Given the description of an element on the screen output the (x, y) to click on. 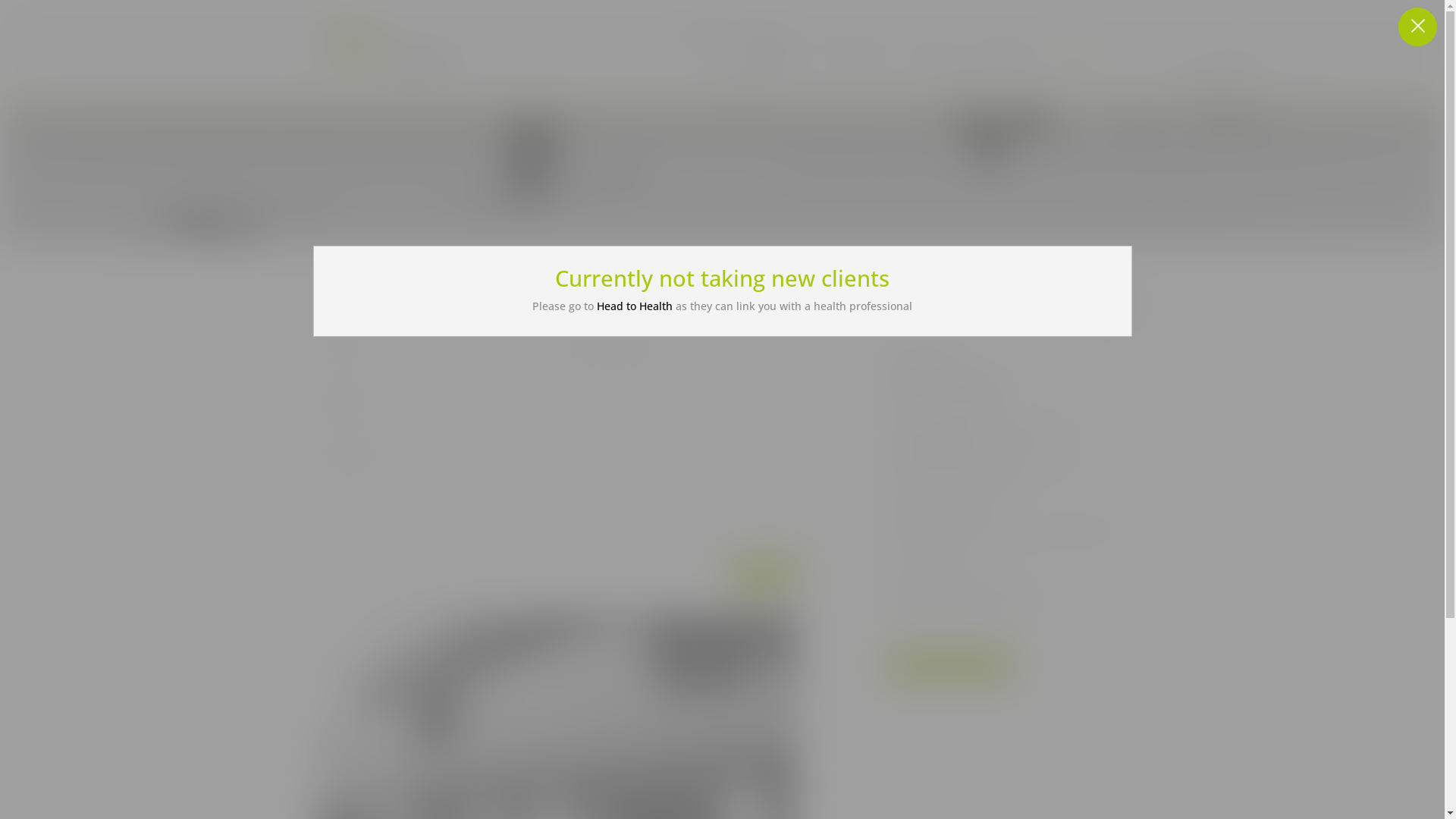
Send Element type: text (763, 574)
Google map Element type: text (950, 665)
Search Element type: text (1105, 302)
crane_logo-landscape-final Element type: hover (380, 51)
RESOURCES Element type: text (1005, 51)
SERVICES Element type: text (933, 51)
MY APPROACH Element type: text (854, 51)
CONTACT Element type: text (1077, 51)
Head to Health Element type: text (634, 305)
HOME Element type: text (782, 51)
